Given the description of an element on the screen output the (x, y) to click on. 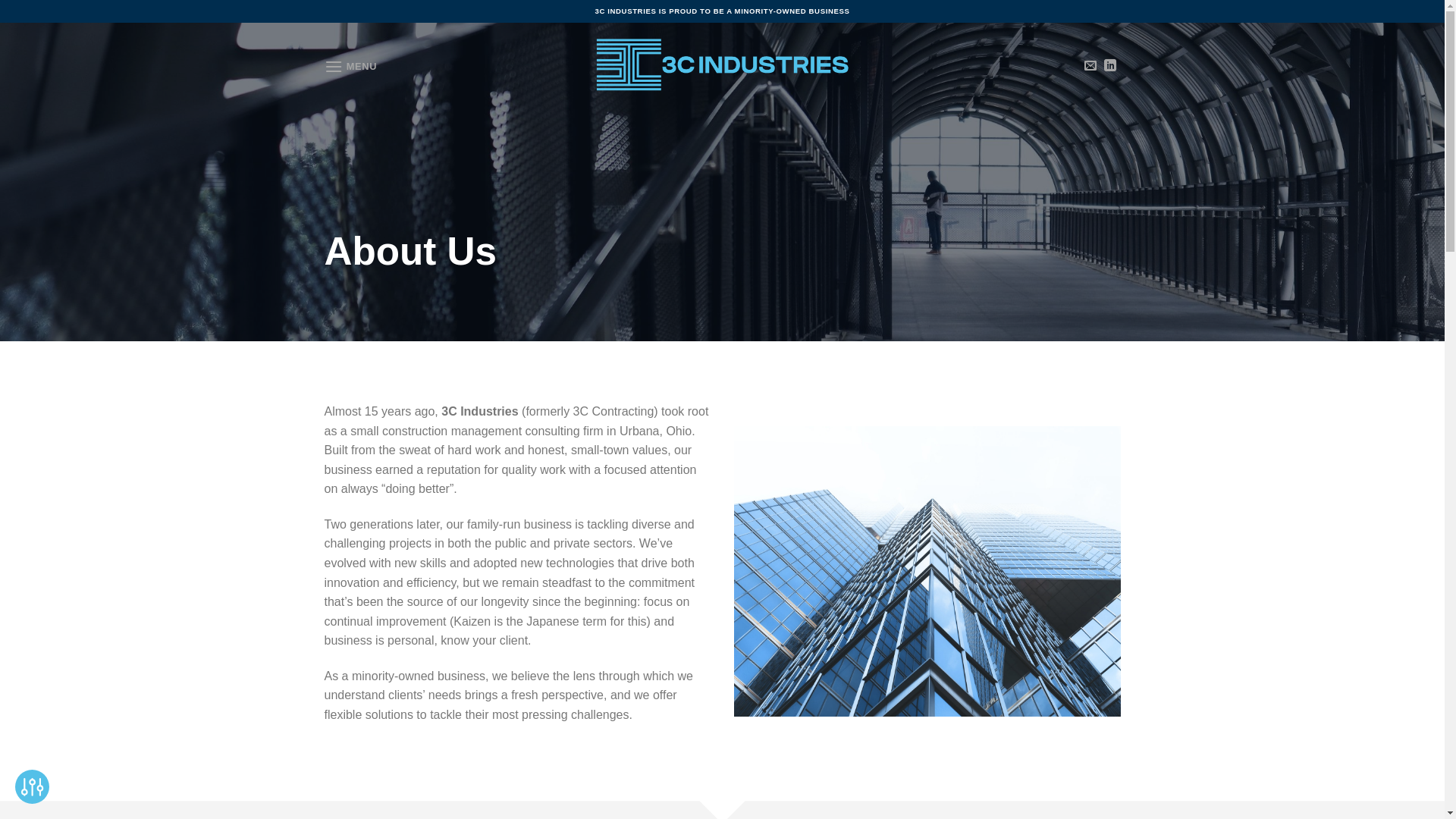
MENU Element type: text (350, 65)
Send us an email Element type: hover (1090, 65)
Follow on LinkedIn Element type: hover (1110, 65)
